Given the description of an element on the screen output the (x, y) to click on. 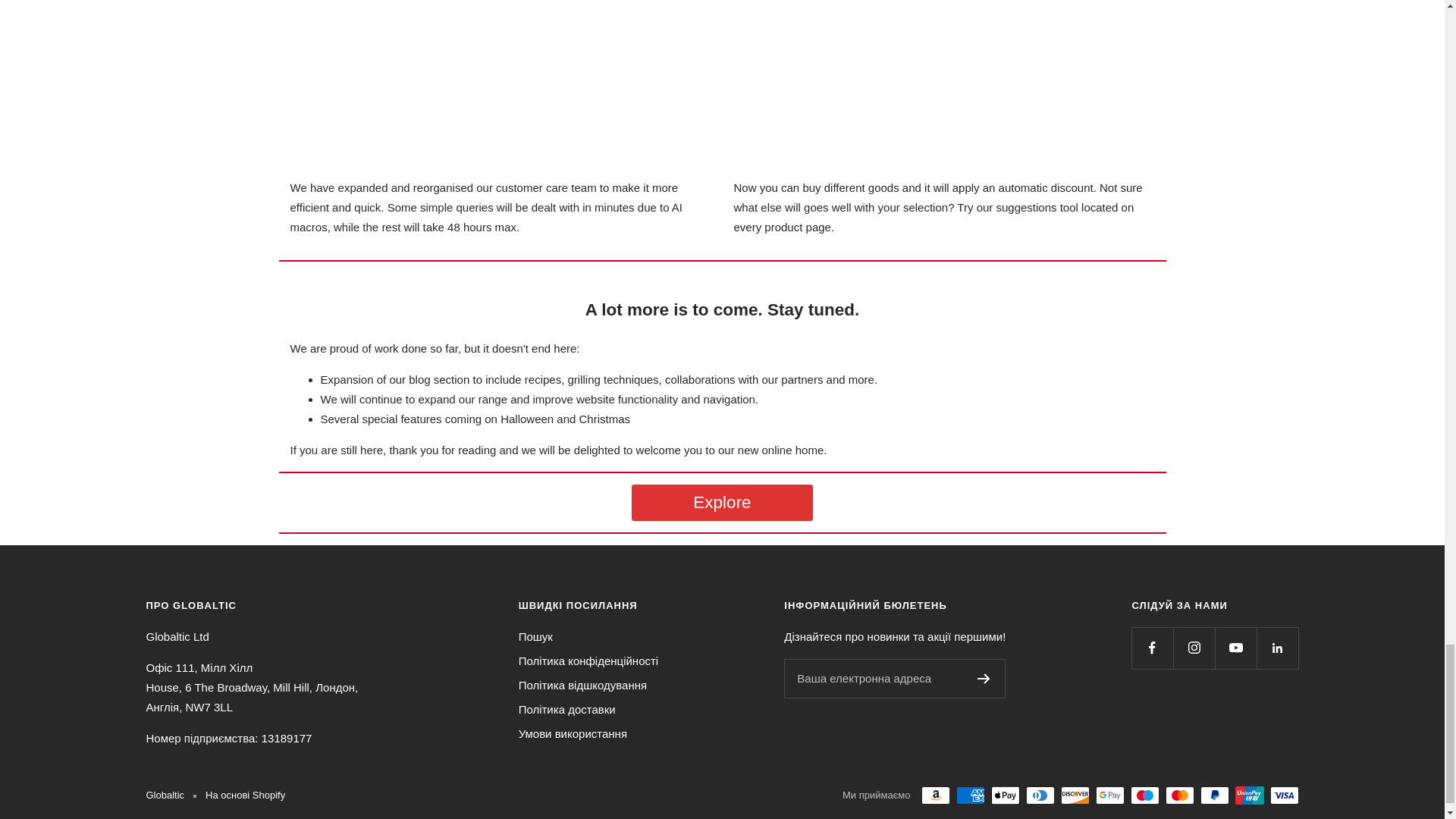
Explore (721, 502)
